Given the description of an element on the screen output the (x, y) to click on. 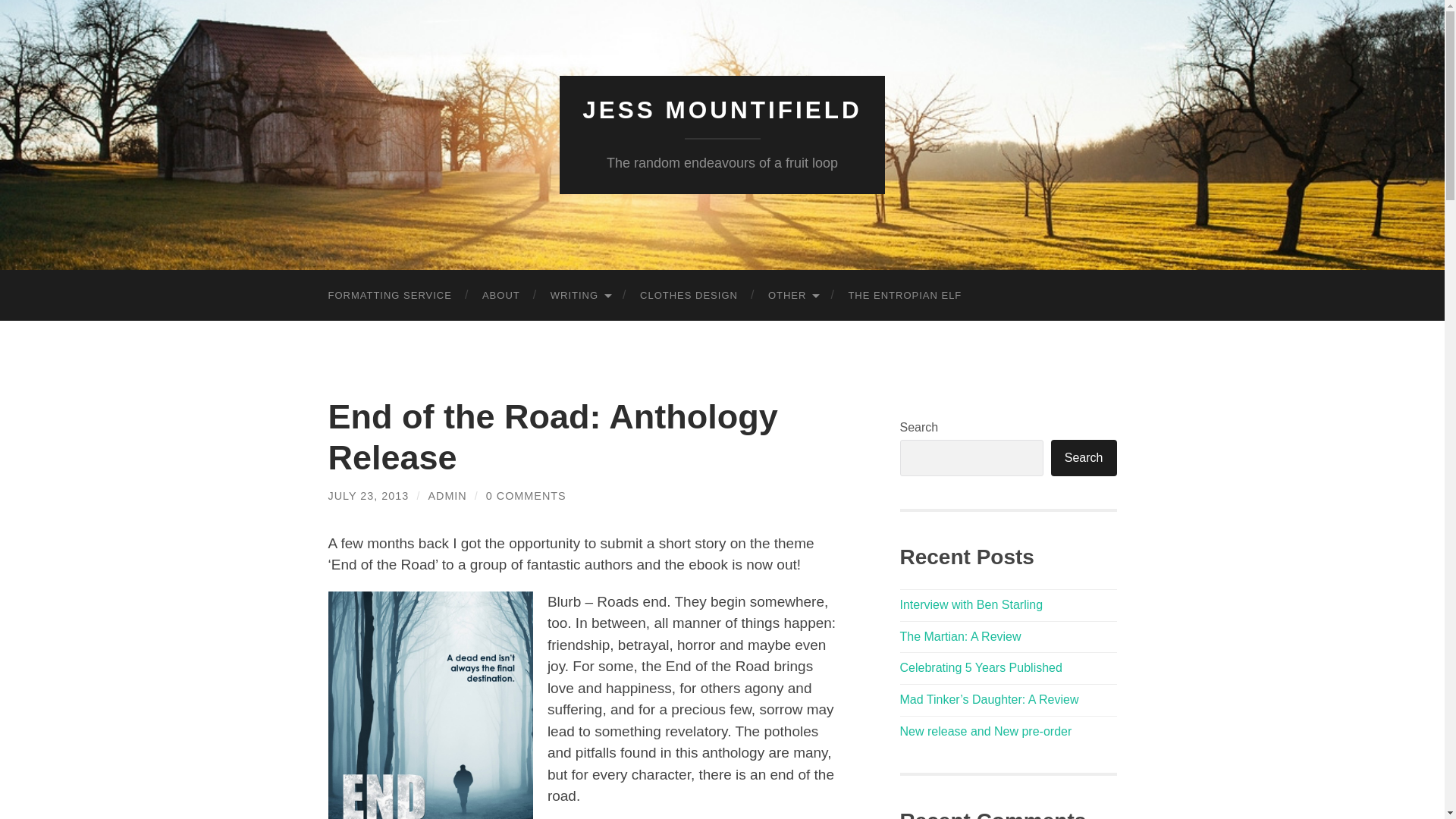
THE ENTROPIAN ELF (904, 295)
JESS MOUNTIFIELD (721, 109)
CLOTHES DESIGN (688, 295)
FORMATTING SERVICE (389, 295)
Posts by admin (446, 495)
End of the Road (429, 705)
OTHER (792, 295)
ABOUT (501, 295)
WRITING (579, 295)
